Given the description of an element on the screen output the (x, y) to click on. 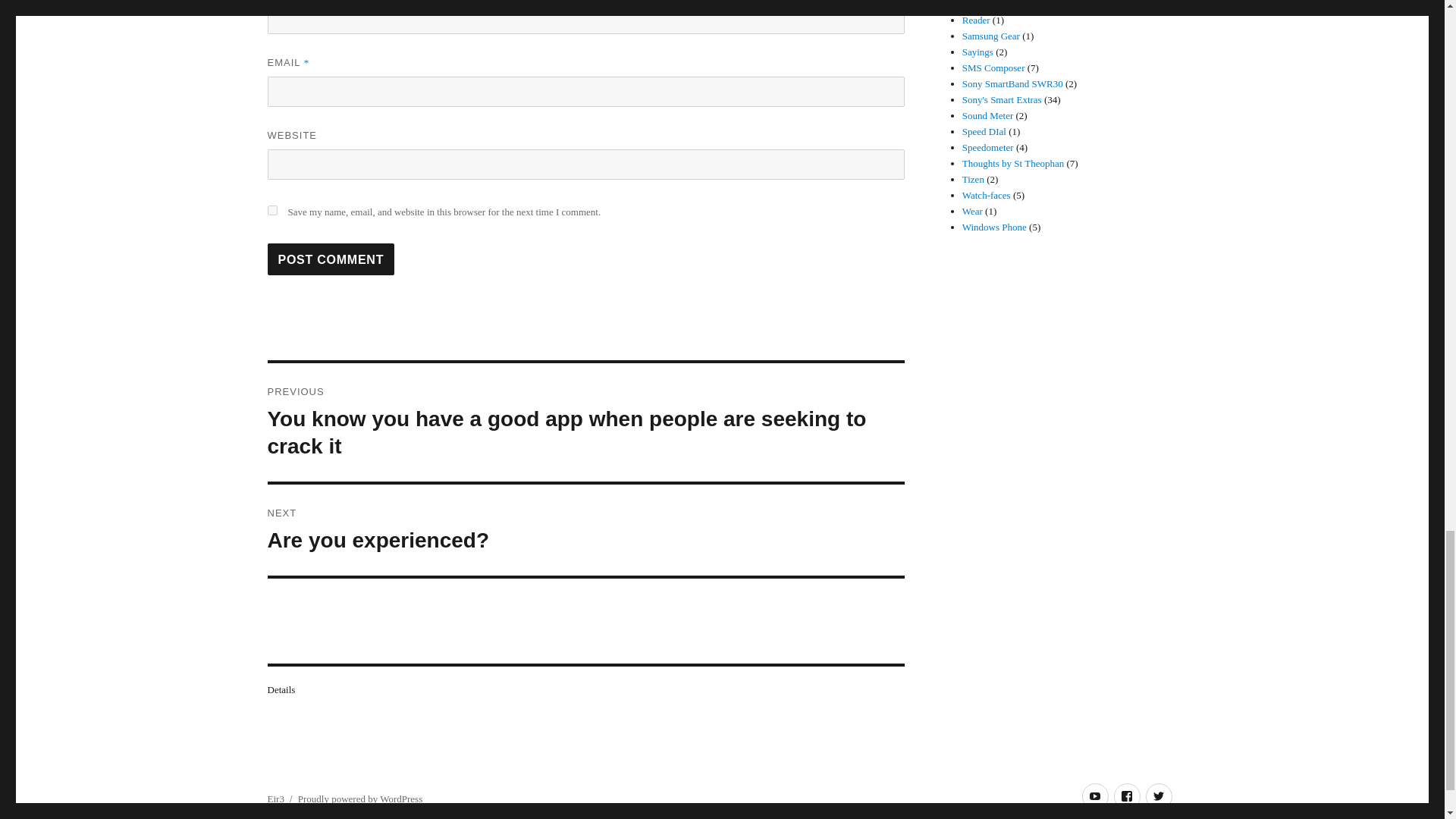
Post Comment (330, 259)
yes (271, 210)
Post Comment (585, 529)
